Given the description of an element on the screen output the (x, y) to click on. 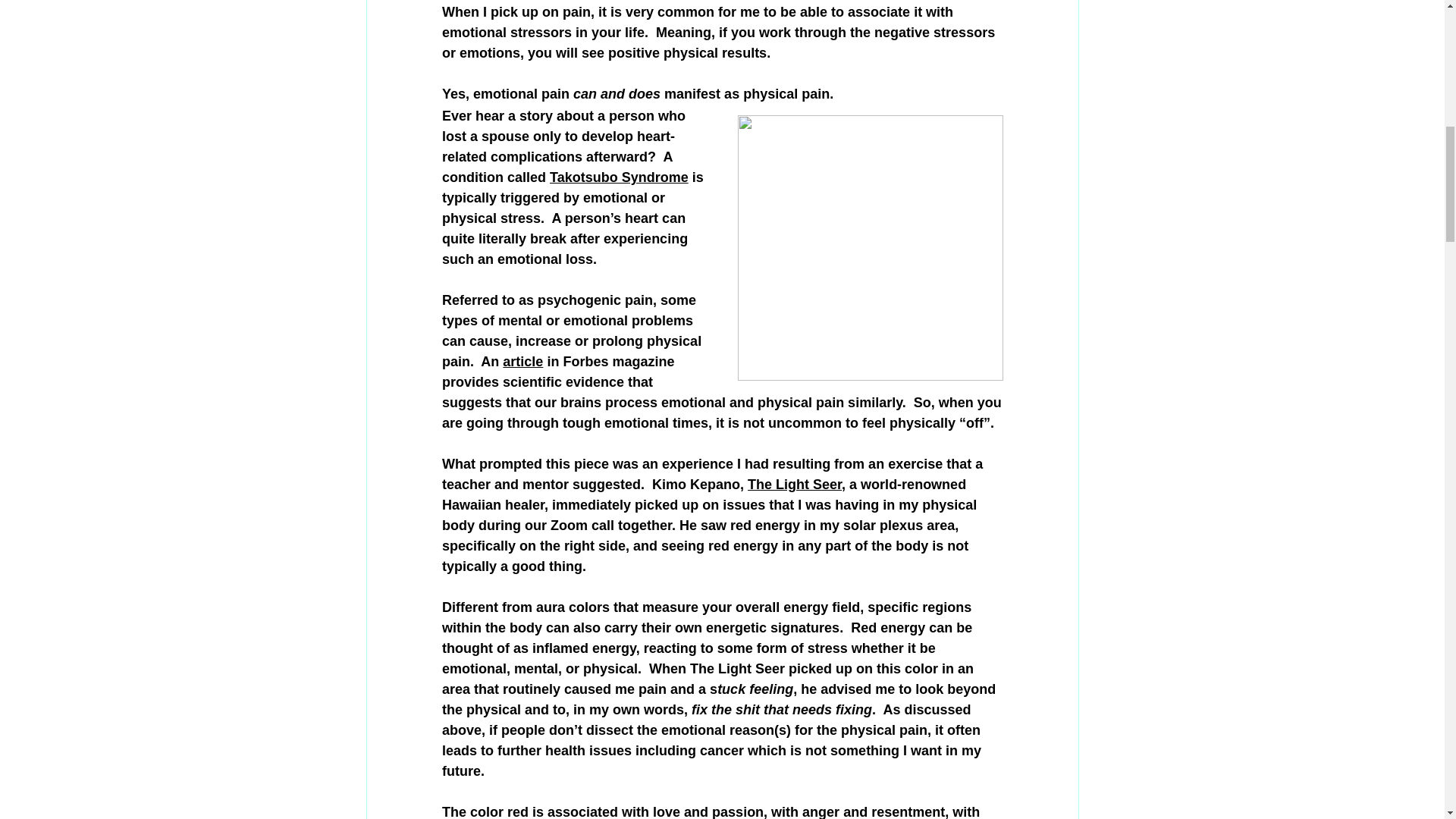
The Light Seer (794, 484)
Takotsubo Syndrome (619, 177)
article (522, 361)
